Given the description of an element on the screen output the (x, y) to click on. 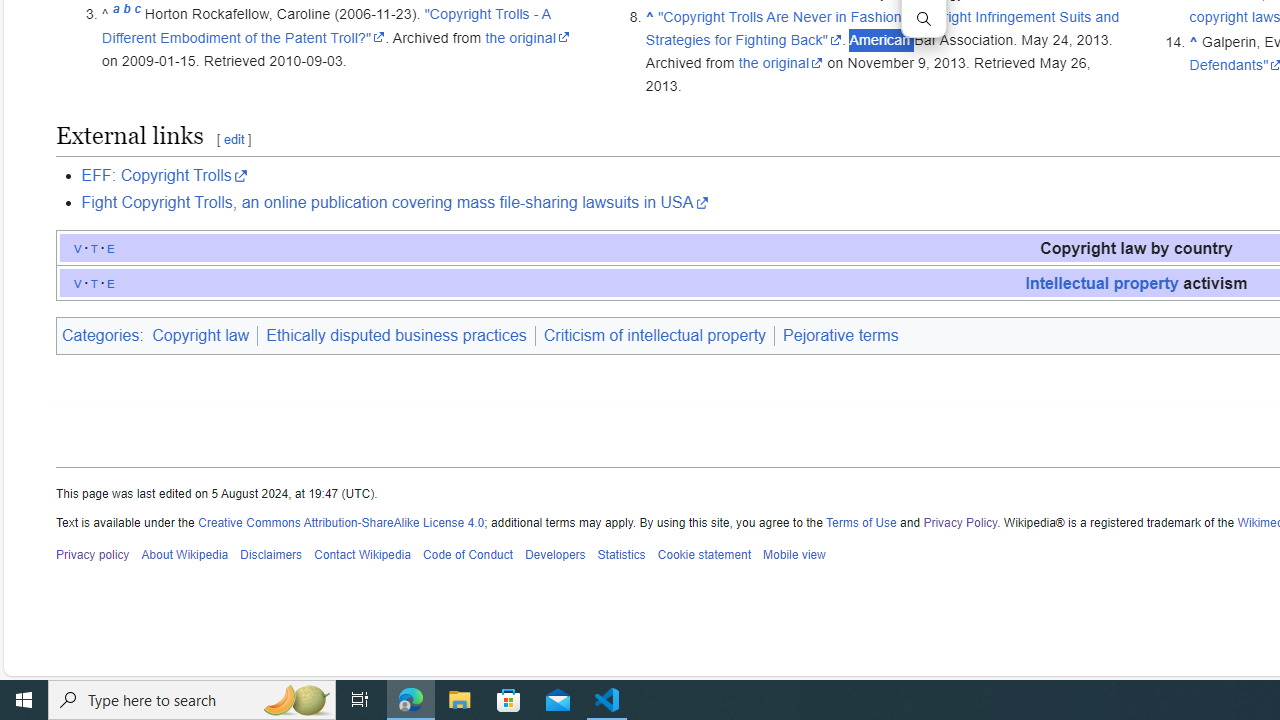
Developers (554, 555)
Developers (554, 555)
Statistics (621, 555)
Code of Conduct (467, 555)
c (137, 14)
Contact Wikipedia (361, 555)
Pejorative terms (840, 336)
Criticism of intellectual property (653, 336)
Disclaimers (271, 555)
Pejorative terms (840, 335)
Categories (100, 335)
e (111, 282)
About Wikipedia (184, 555)
